Given the description of an element on the screen output the (x, y) to click on. 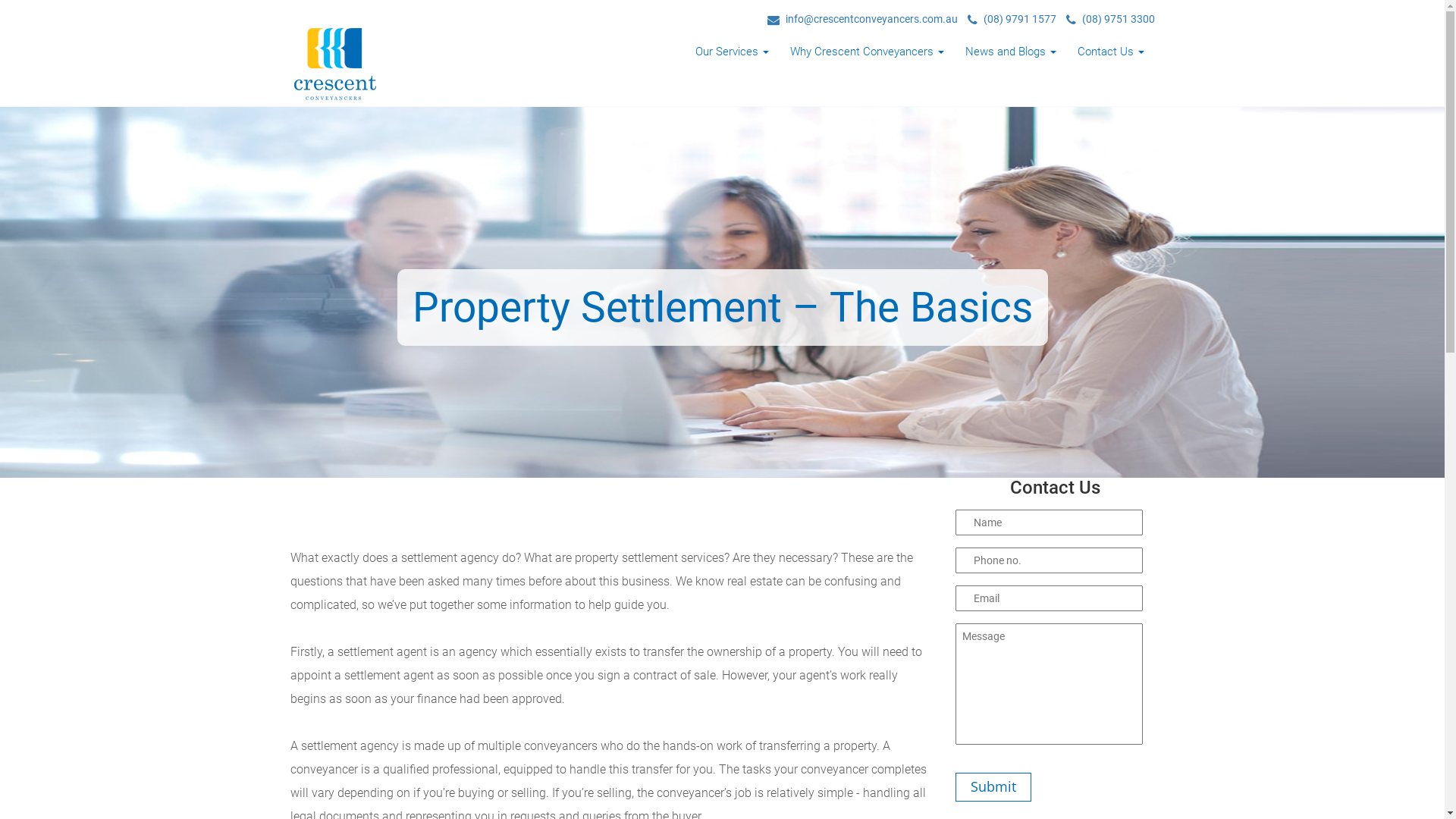
info@crescentconveyancers.com.au Element type: text (862, 18)
Contact Us Element type: text (1110, 50)
News and Blogs Element type: text (1009, 50)
Submit Element type: text (993, 786)
                                Element type: text (342, 30)
(08) 9751 3300 Element type: text (1110, 18)
Our Services Element type: text (731, 50)
(08) 9791 1577 Element type: text (1011, 18)
Why Crescent Conveyancers Element type: text (866, 50)
